Given the description of an element on the screen output the (x, y) to click on. 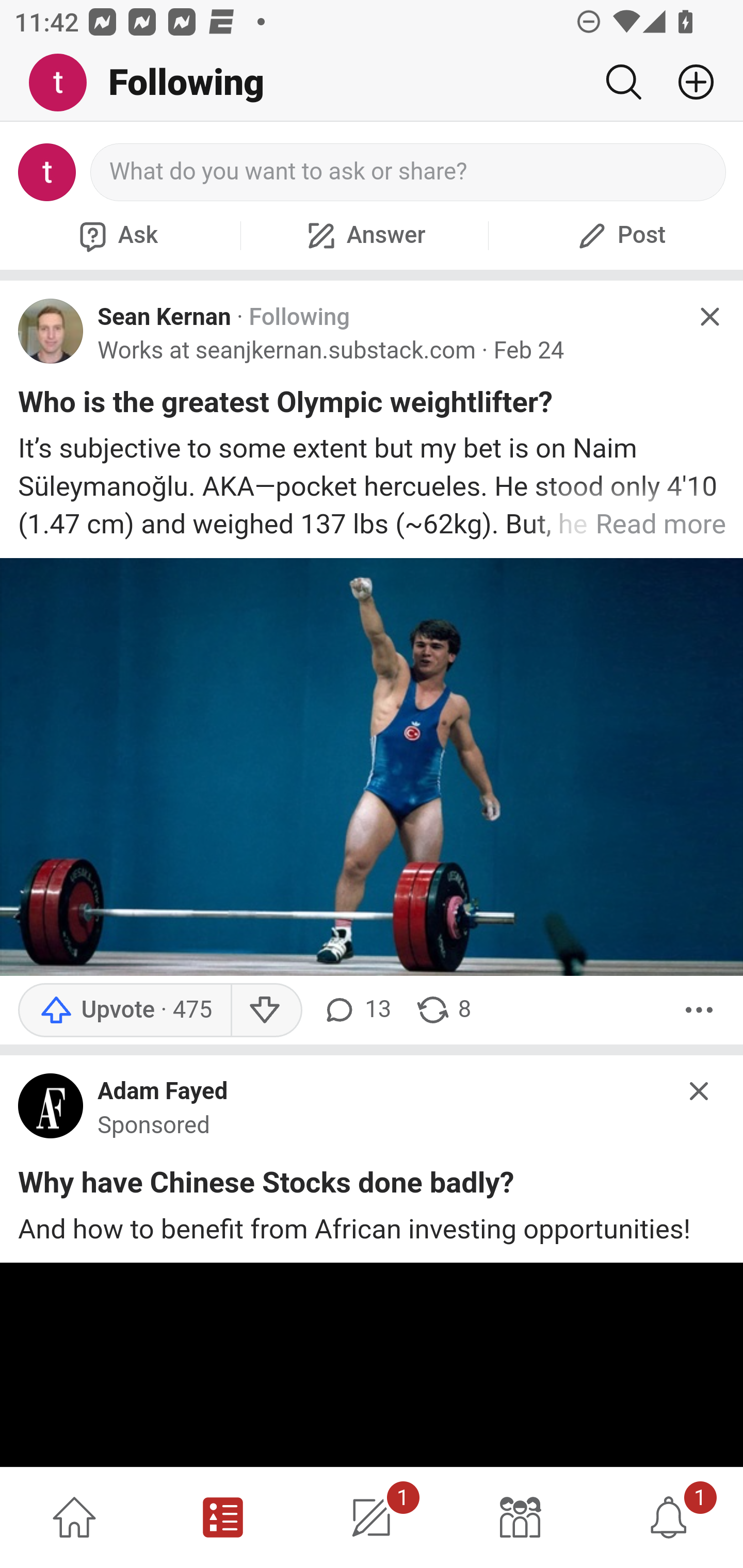
Me (64, 83)
Search (623, 82)
Add (688, 82)
What do you want to ask or share? (408, 172)
Ask (116, 234)
Answer (364, 234)
Post (618, 234)
Hide (709, 316)
Profile photo for Sean Kernan (50, 330)
Sean Kernan (164, 316)
Following (299, 316)
Upvote (124, 1009)
Downvote (266, 1009)
13 comments (356, 1009)
8 shares (443, 1009)
More (699, 1009)
Hide (699, 1091)
main-qimg-9229f9829955c59ec9f04a2e40d98b2b (50, 1109)
Adam Fayed (162, 1091)
Sponsored (154, 1125)
Why have Chinese Stocks done badly? (265, 1186)
1 (371, 1517)
1 (668, 1517)
